Given the description of an element on the screen output the (x, y) to click on. 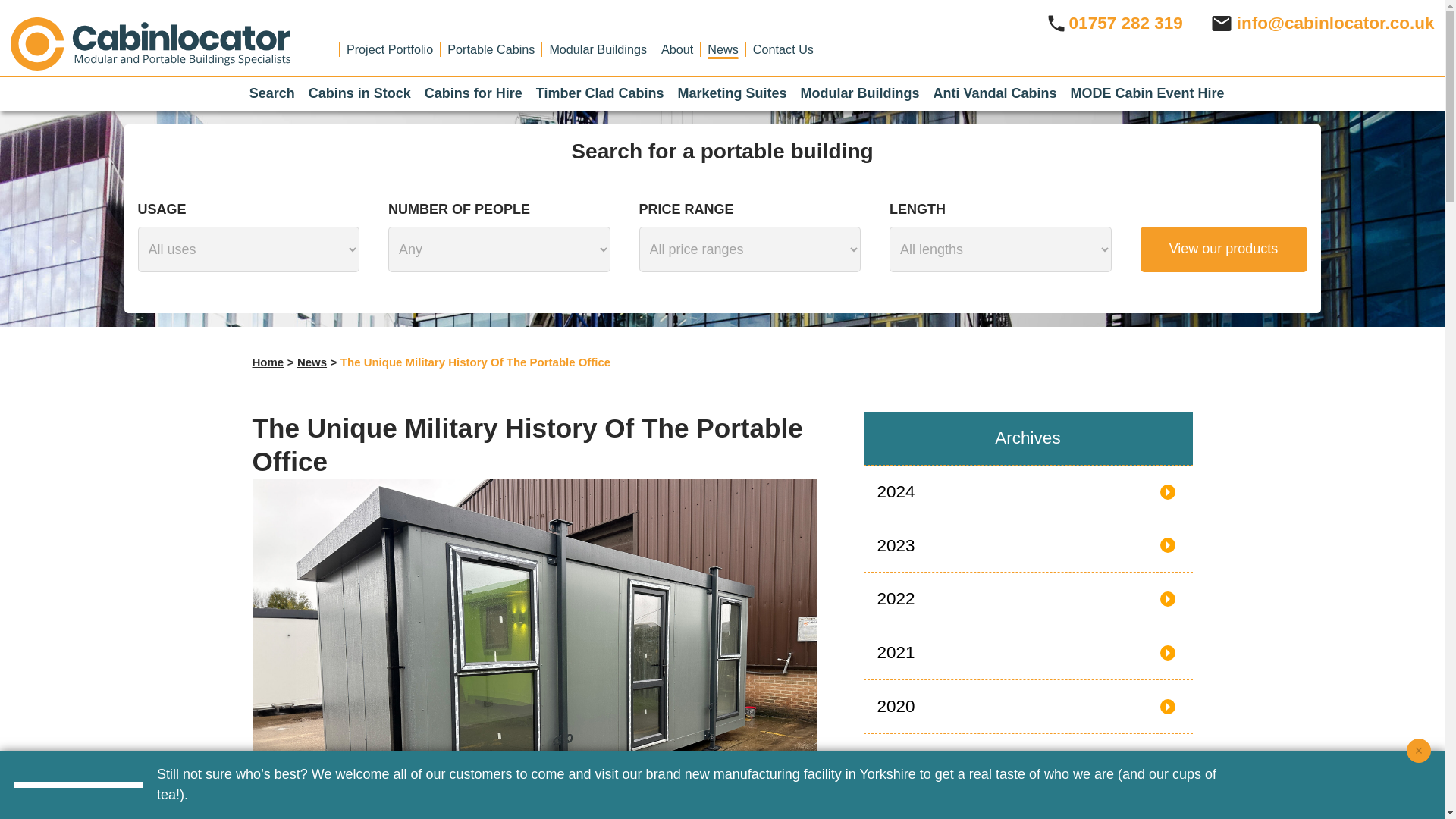
01757 282 319 (1113, 23)
Portable Cabins (490, 49)
News (722, 49)
About (677, 49)
Contact Us (782, 49)
Project Portfolio (389, 49)
Modular Buildings (597, 49)
